Given the description of an element on the screen output the (x, y) to click on. 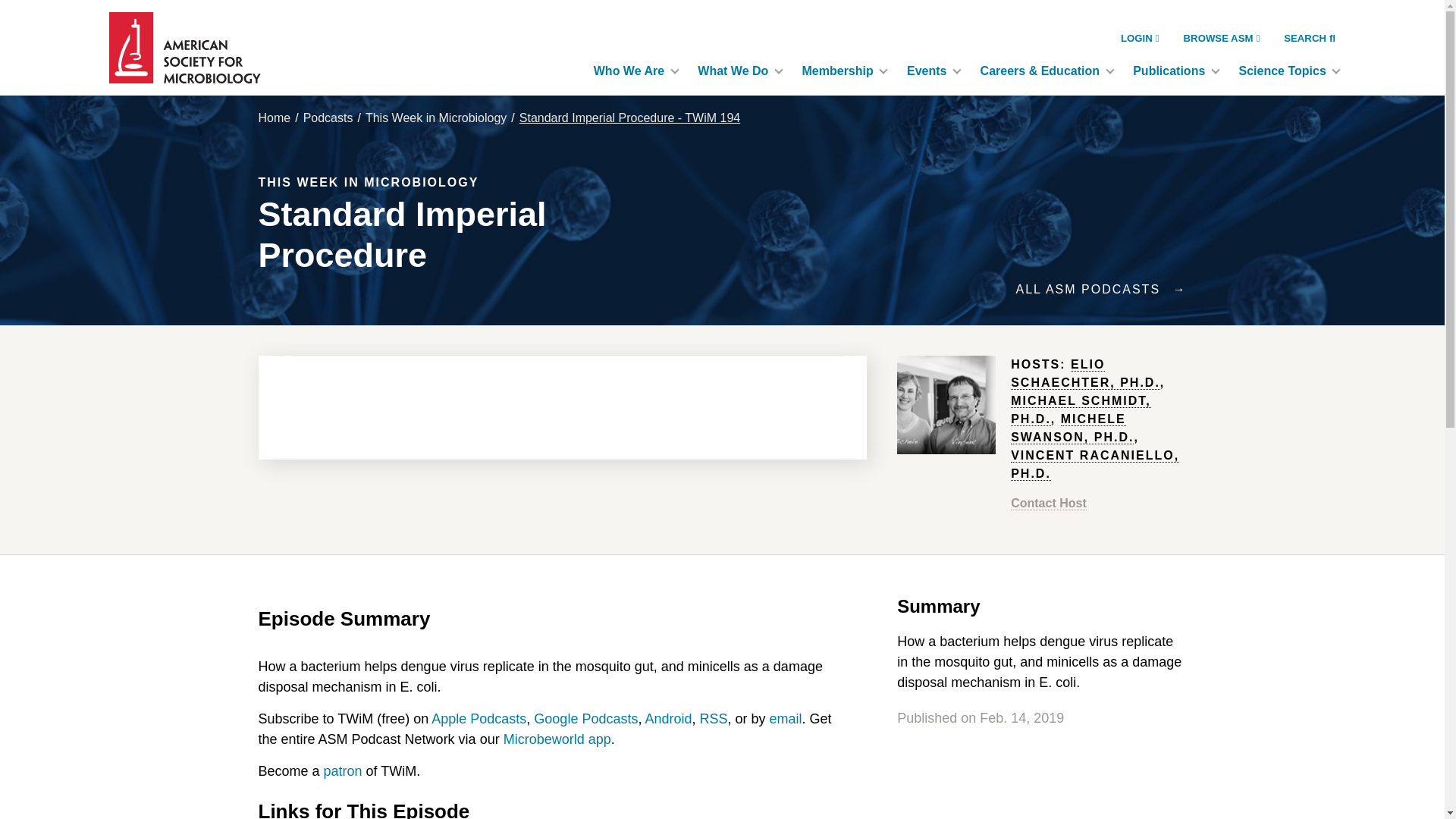
TWiM on Android (668, 718)
SEARCH (1309, 38)
Membership (842, 70)
BROWSE ASM (1222, 38)
Events (931, 70)
Who We Are (632, 70)
LOGIN (1140, 38)
Subscribe to TWiM (714, 718)
What We Do (737, 70)
